Given the description of an element on the screen output the (x, y) to click on. 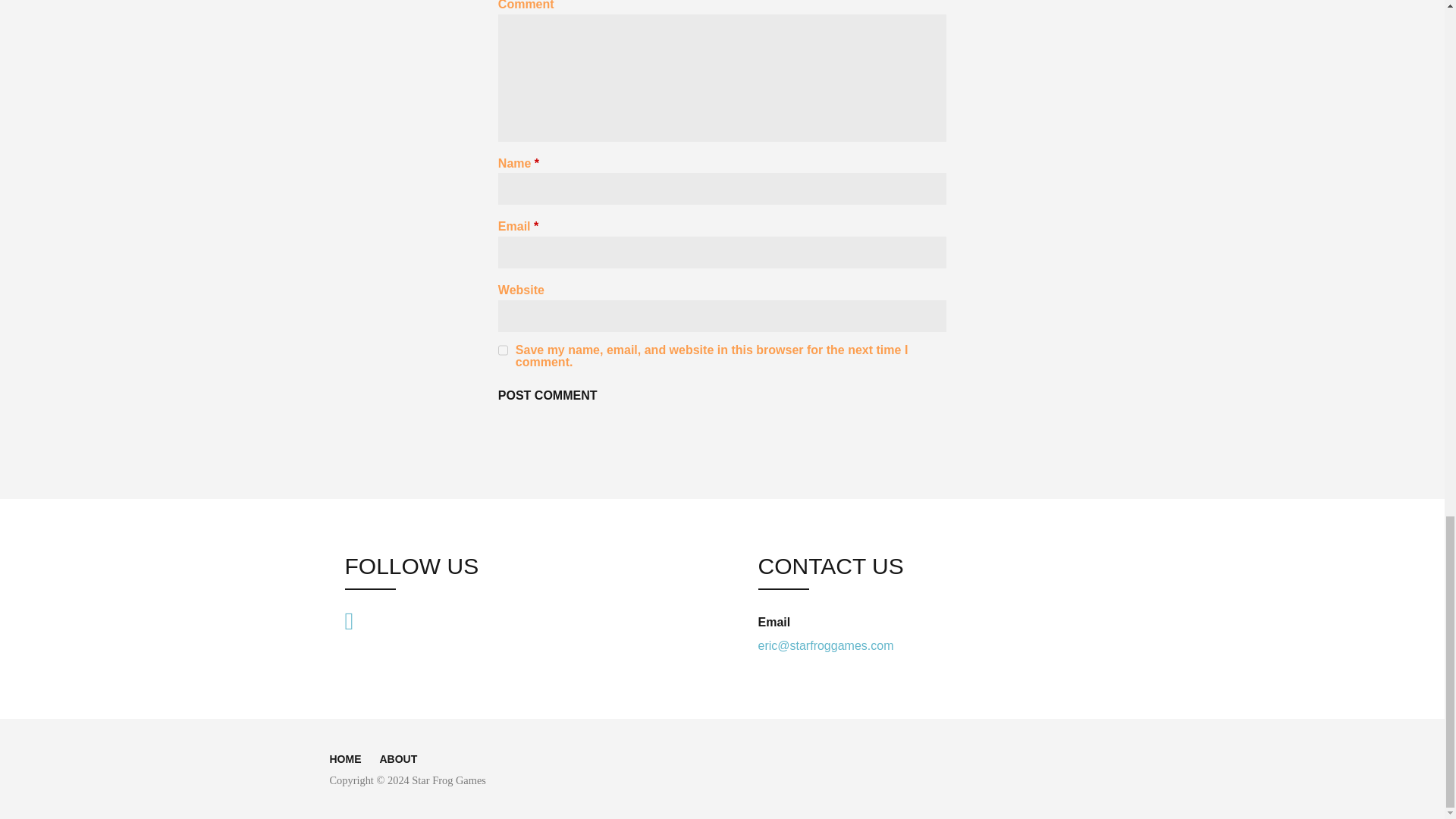
HOME (345, 758)
Post Comment (546, 395)
ABOUT (397, 758)
Post Comment (546, 395)
